Given the description of an element on the screen output the (x, y) to click on. 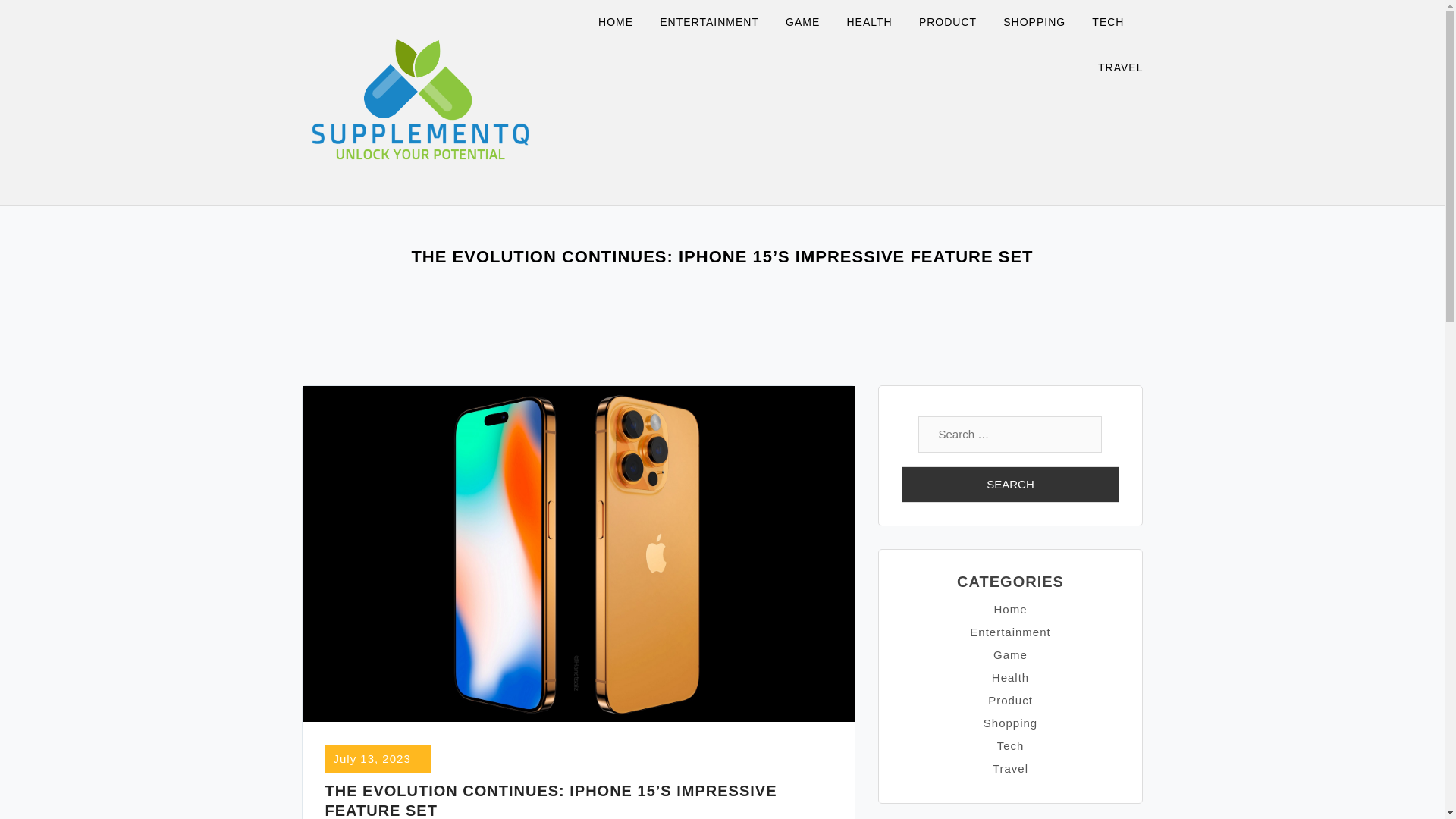
Entertainment (1009, 631)
Search (1010, 484)
Search (1010, 484)
GAME (812, 22)
Home (1009, 608)
Travel (1009, 768)
Tech (1011, 745)
HOME (625, 22)
PRODUCT (956, 22)
Health (1010, 676)
Search (1010, 484)
Shopping (1010, 722)
SHOPPING (1043, 22)
TRAVEL (1119, 67)
HEALTH (878, 22)
